Given the description of an element on the screen output the (x, y) to click on. 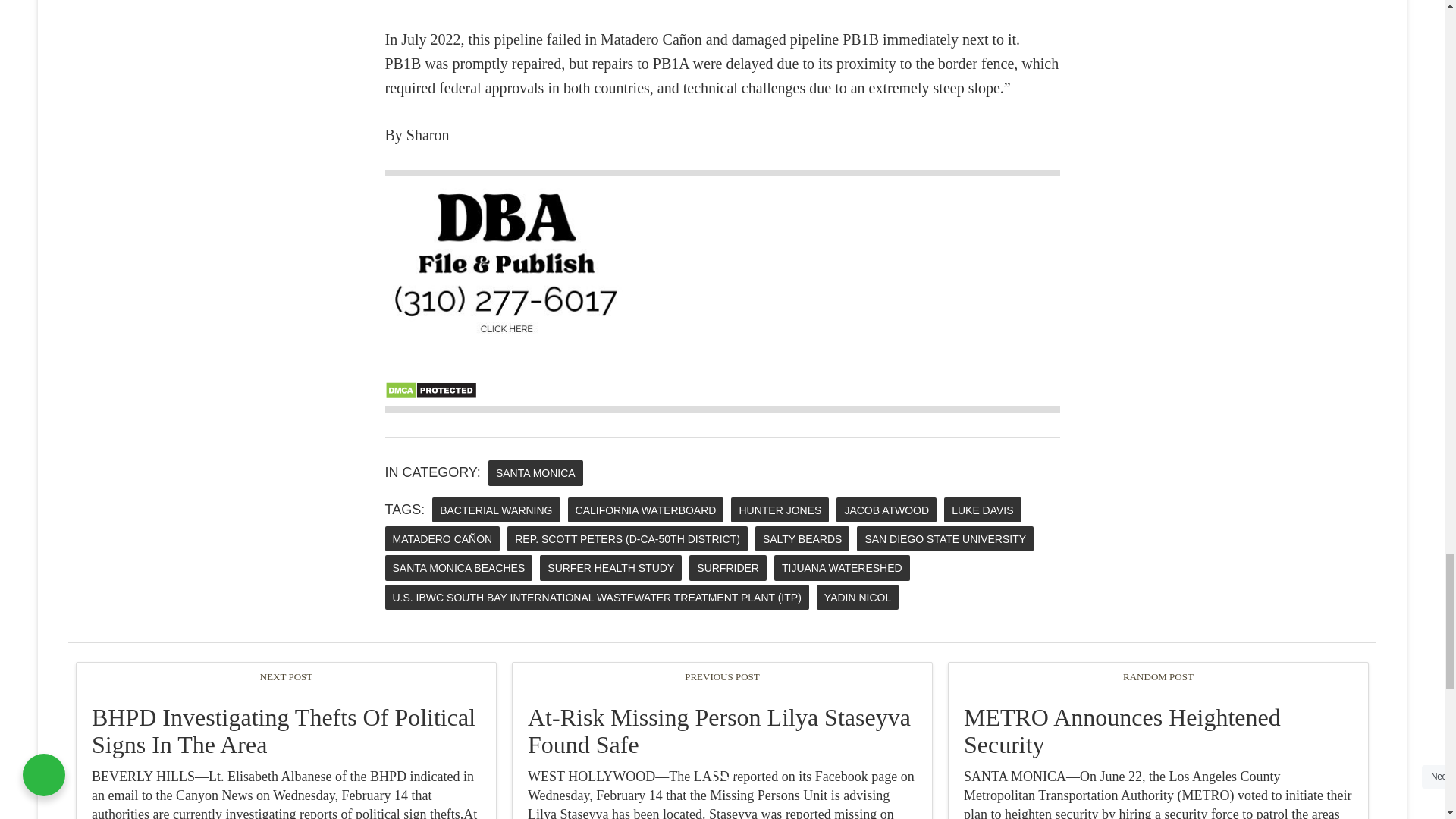
SANTA MONICA (535, 472)
DMCA.com Protection Status (431, 393)
